Given the description of an element on the screen output the (x, y) to click on. 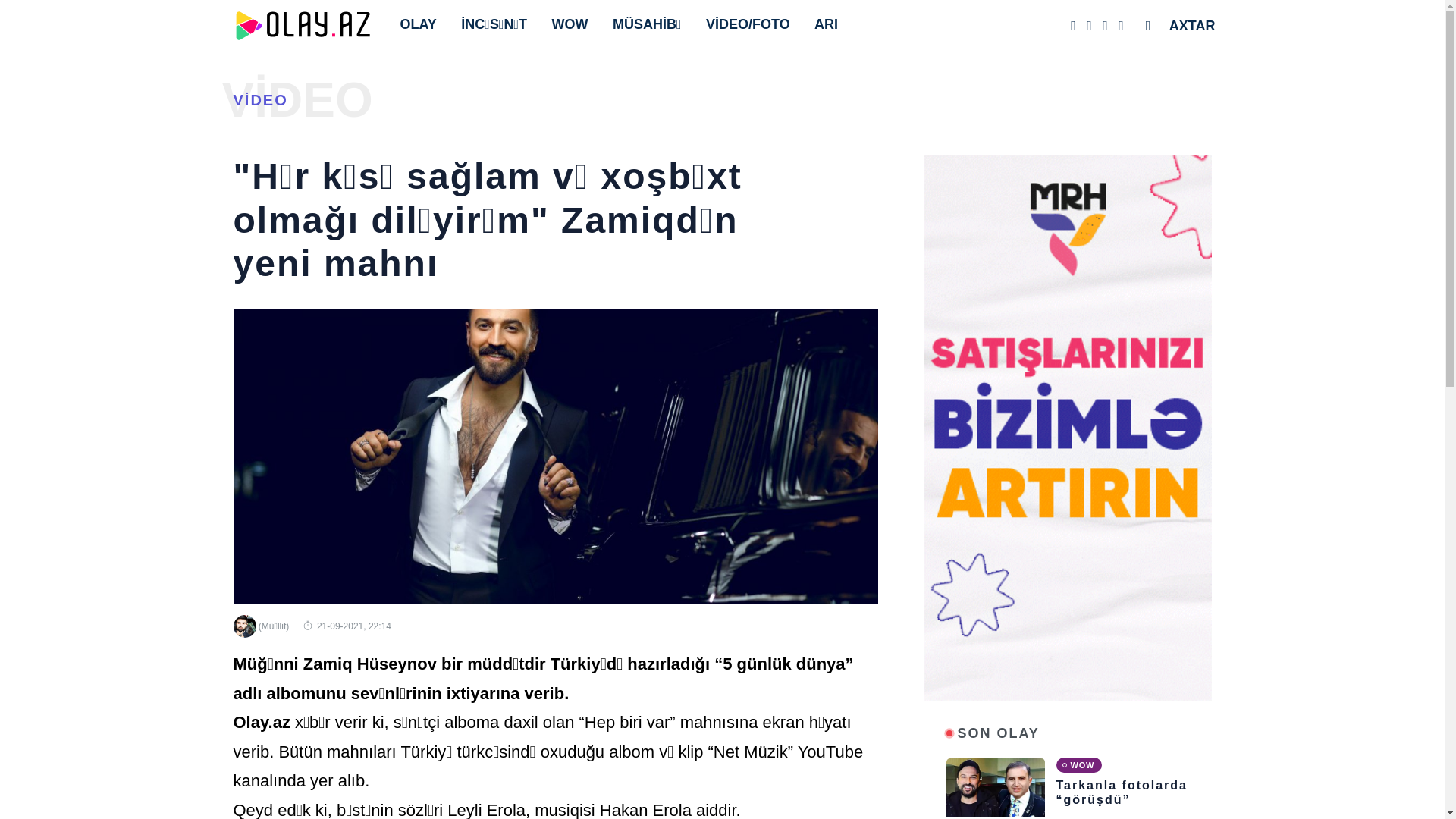
WOW Element type: text (574, 24)
AXTAR Element type: text (1196, 25)
SON OLAY Element type: text (998, 733)
WOW Element type: text (1078, 763)
ARI Element type: text (829, 24)
OLAY Element type: text (422, 24)
